Given the description of an element on the screen output the (x, y) to click on. 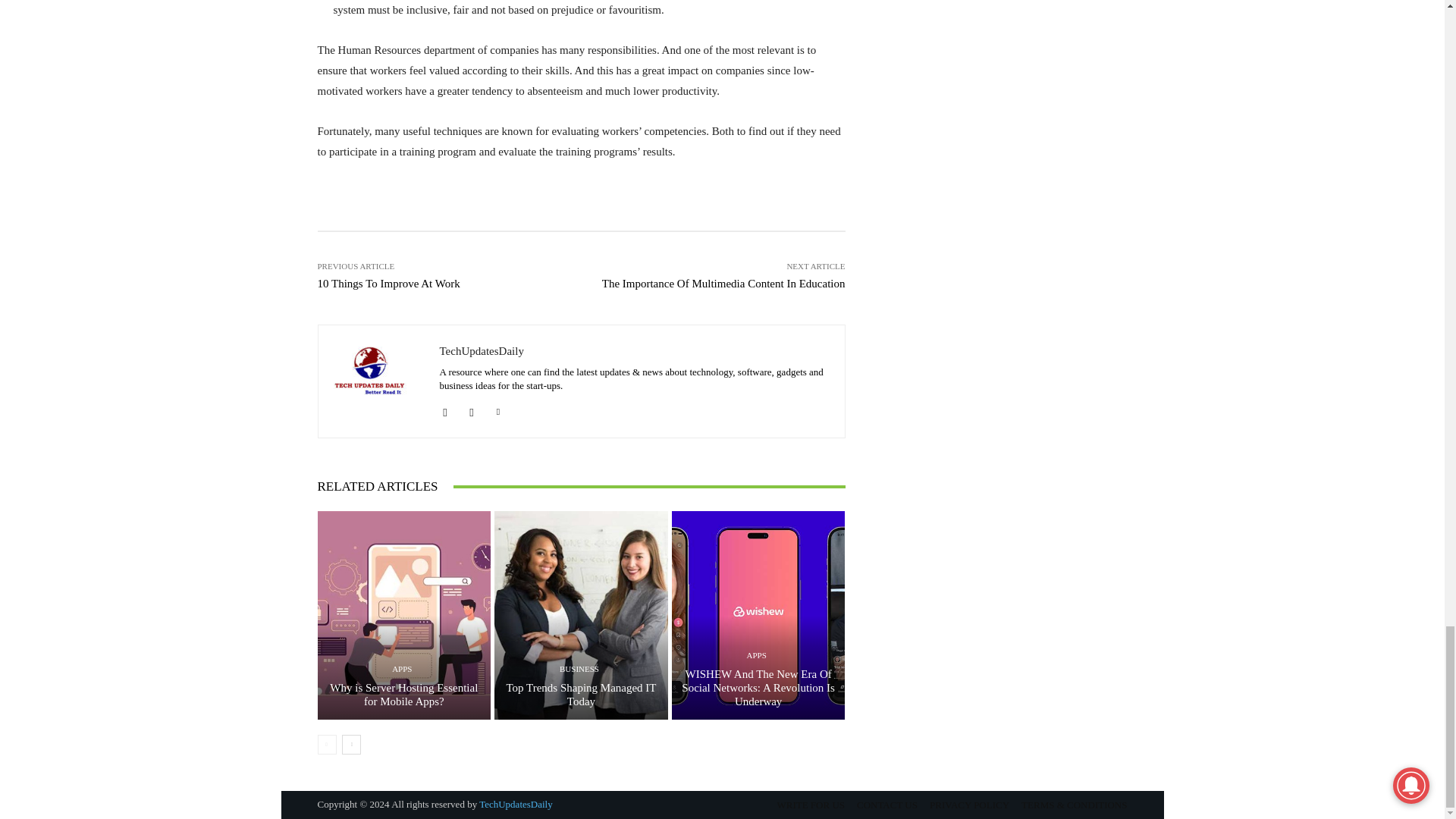
facebook (445, 408)
TechUpdatesDaily (379, 381)
